Given the description of an element on the screen output the (x, y) to click on. 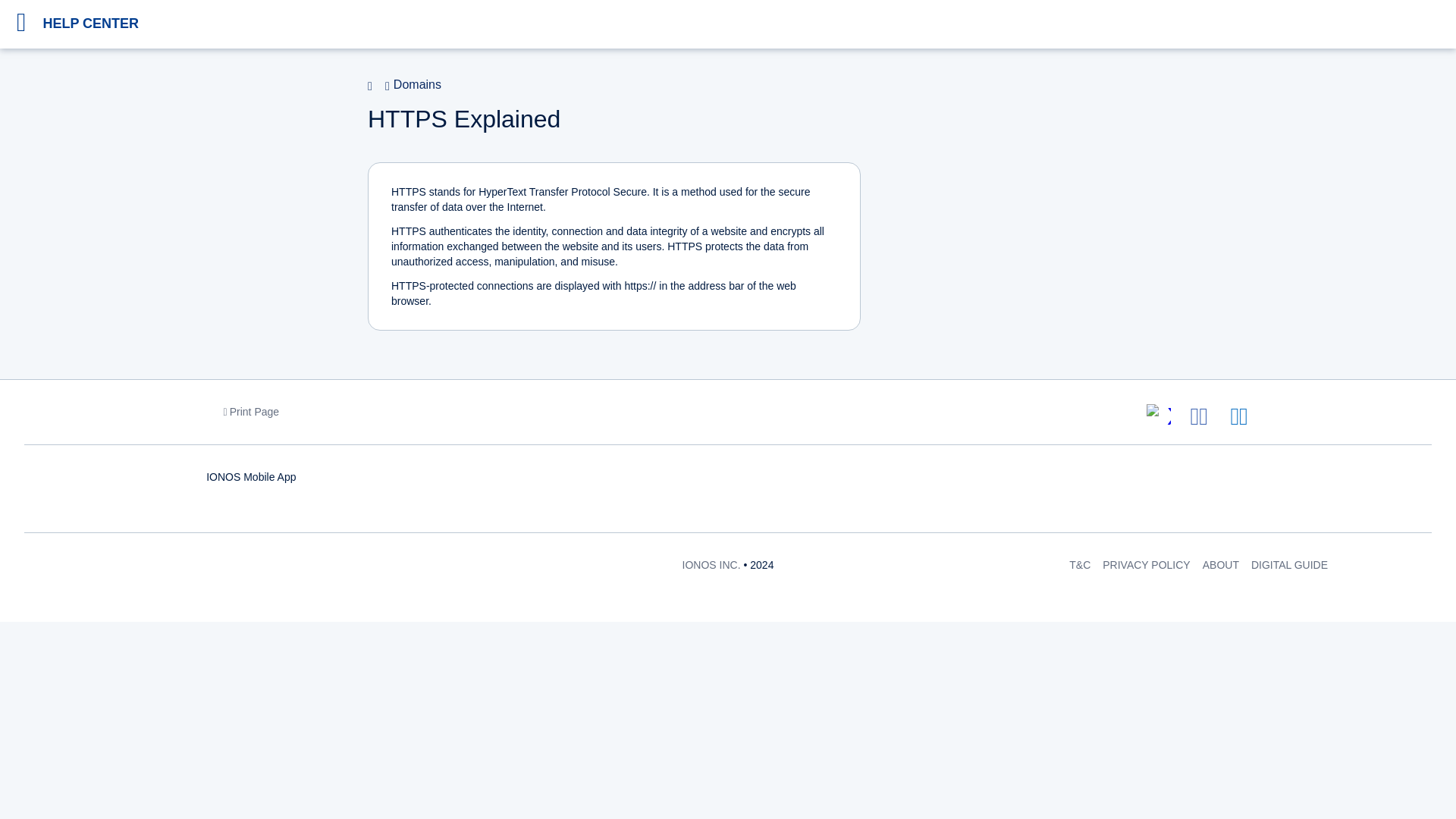
X icon (1169, 428)
DIGITAL GUIDE (1288, 564)
Send Article by E-mail (1237, 416)
IONOS INC. (711, 564)
Home (374, 86)
ABOUT (1220, 564)
Domains (411, 86)
Print Page (251, 411)
PRIVACY POLICY (1145, 564)
